Given the description of an element on the screen output the (x, y) to click on. 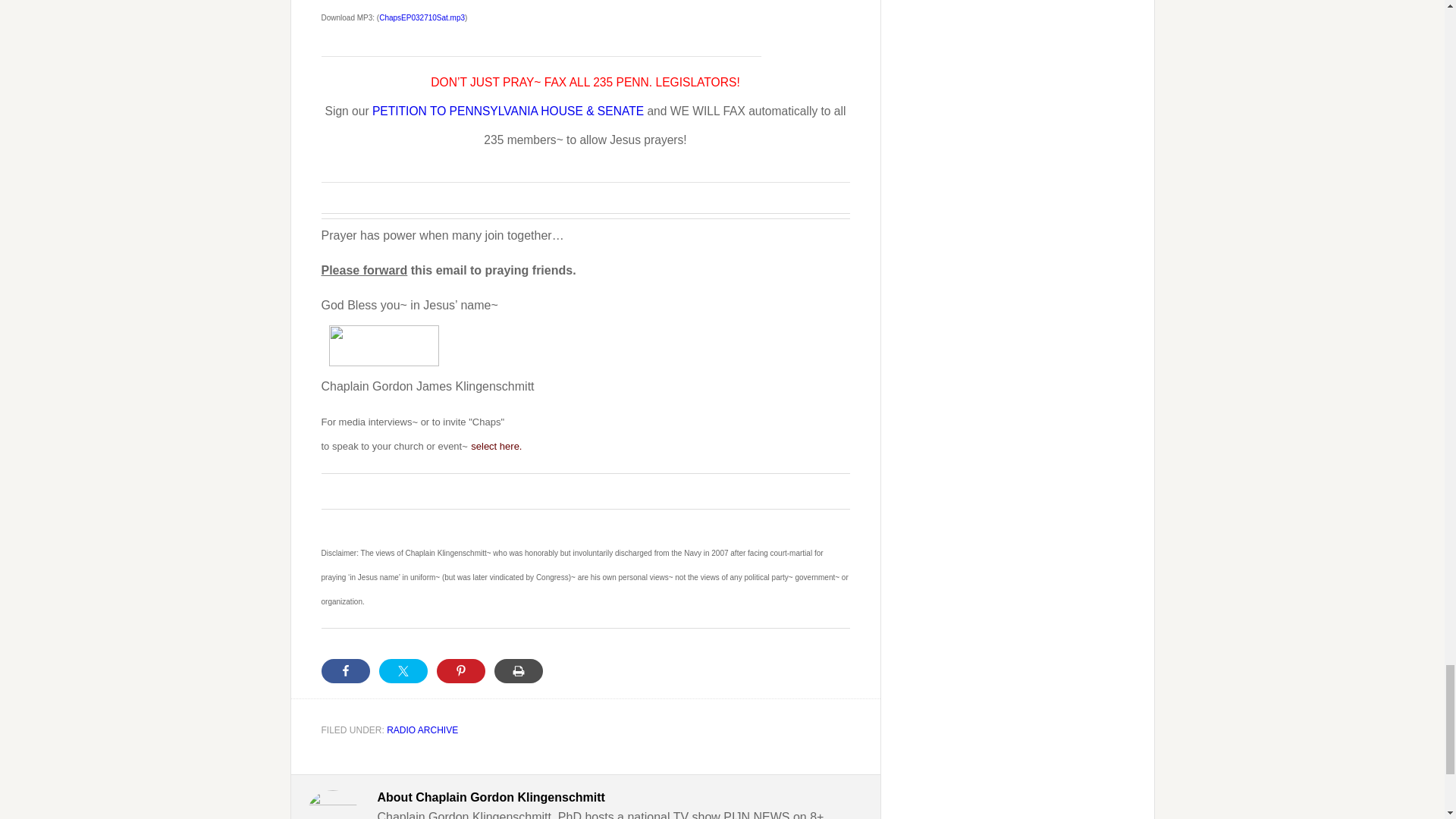
Share on Twitter (403, 671)
Share on Facebook (345, 671)
Share on Pinterest (460, 671)
Print this Page (519, 671)
